Given the description of an element on the screen output the (x, y) to click on. 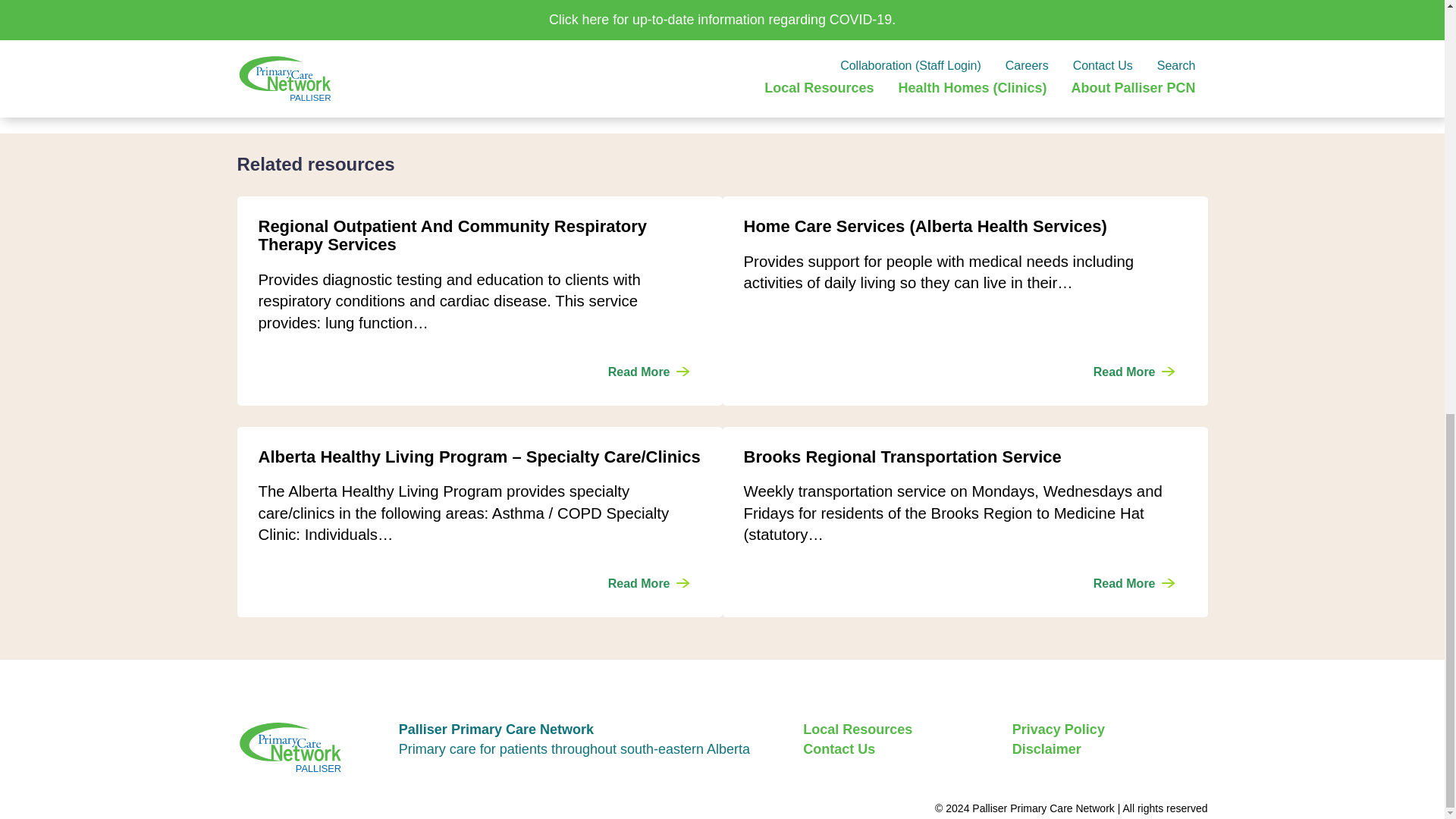
Disclaimer (1046, 749)
Read More (1133, 372)
Local Resources (857, 729)
Palliser Primary Care Network (338, 746)
Privacy Policy (1058, 729)
Read More (1133, 583)
Contact Us (839, 749)
Read More (648, 372)
Read More (648, 583)
